Given the description of an element on the screen output the (x, y) to click on. 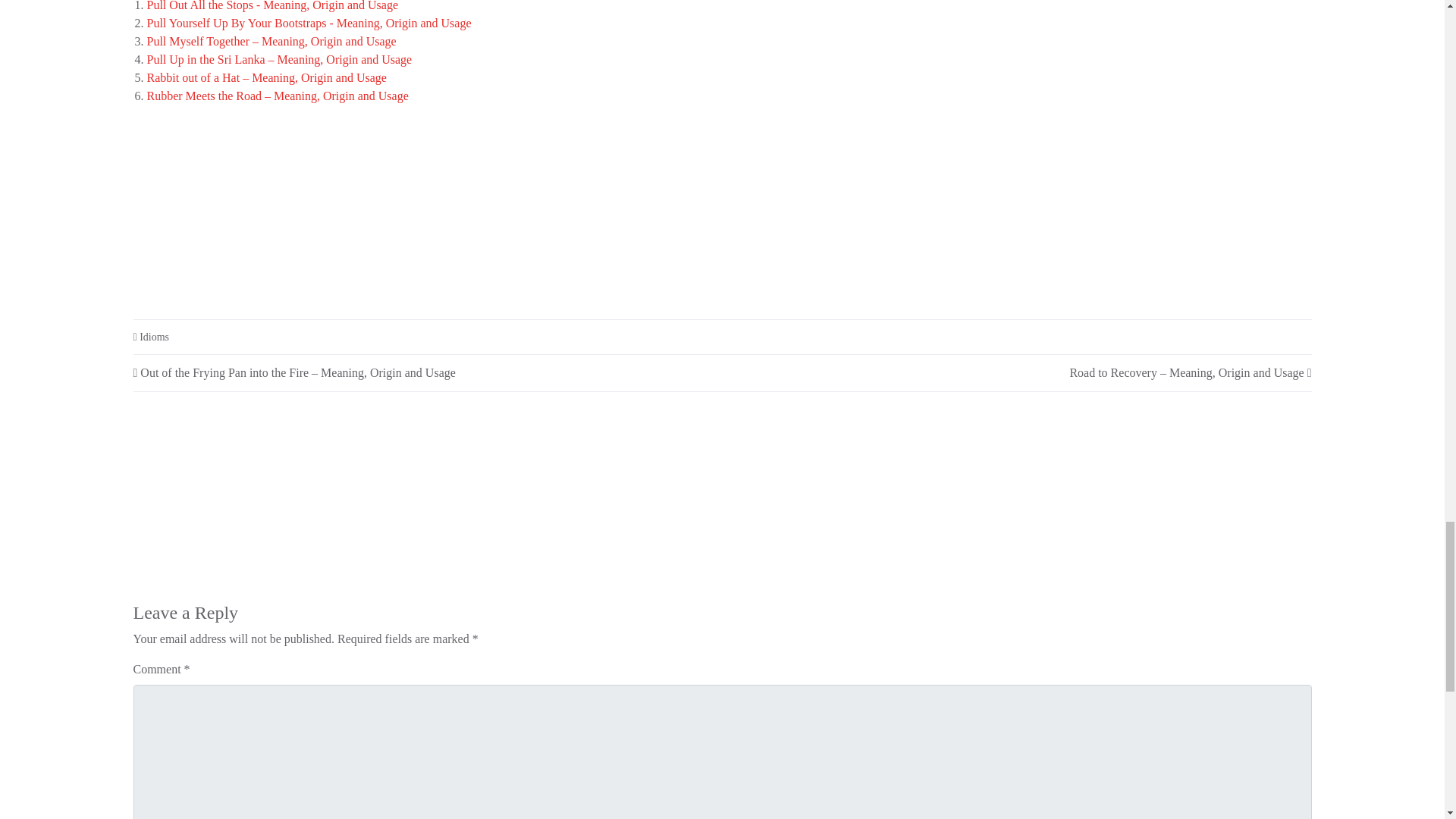
Pull Out All the Stops - Meaning, Origin and Usage (272, 5)
Idioms (153, 337)
Pull Out All the Stops - Meaning, Origin and Usage (272, 5)
